Given the description of an element on the screen output the (x, y) to click on. 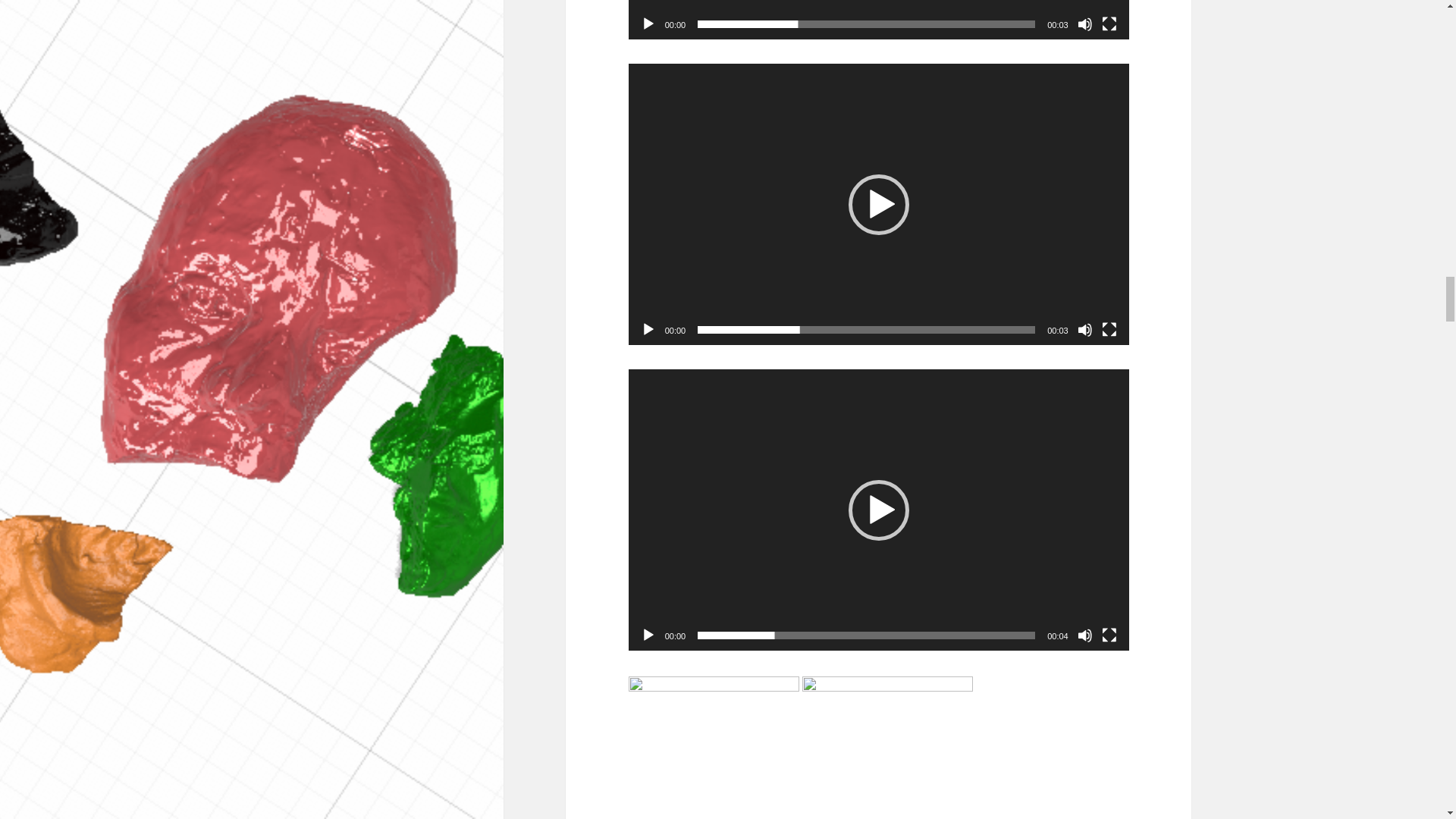
Mute (1085, 329)
Fullscreen (1109, 635)
Mute (1085, 635)
Play (648, 23)
Fullscreen (1109, 23)
Play (648, 635)
Fullscreen (1109, 329)
Mute (1085, 23)
Play (648, 329)
